Given the description of an element on the screen output the (x, y) to click on. 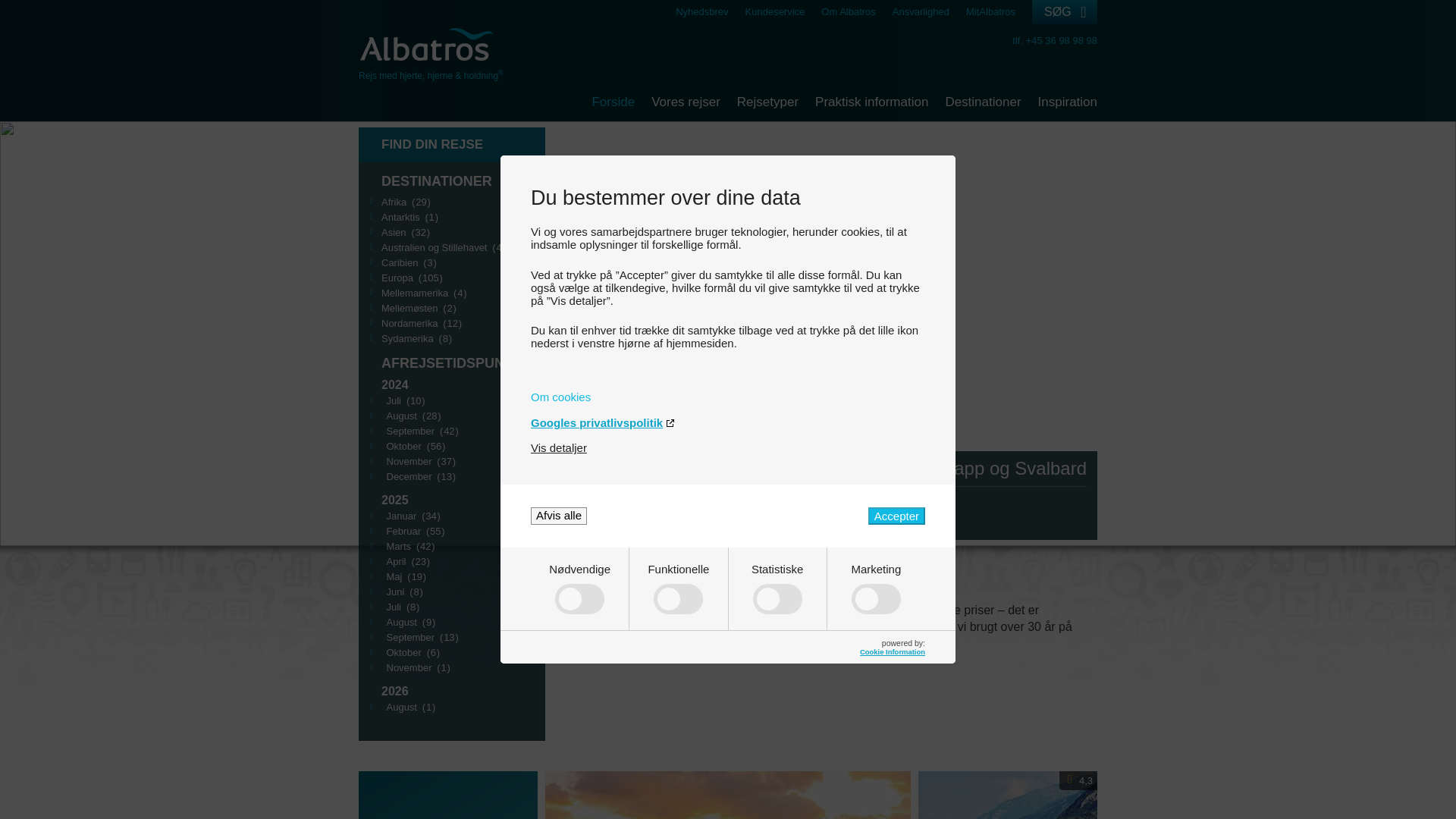
Googles privatlivspolitik (727, 422)
Om cookies (727, 396)
Vis detaljer (558, 447)
